Given the description of an element on the screen output the (x, y) to click on. 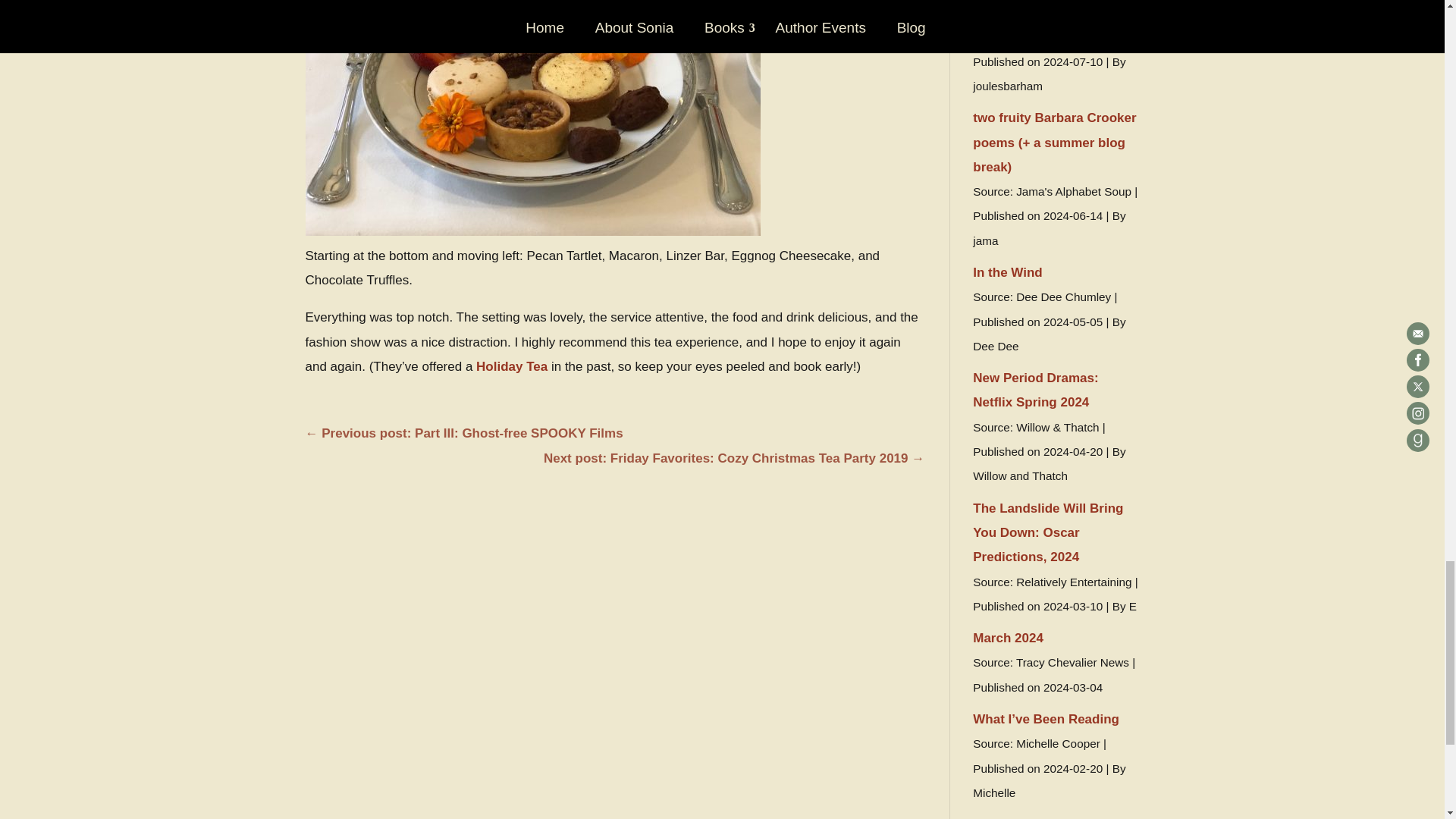
Holiday Tea (511, 366)
